Given the description of an element on the screen output the (x, y) to click on. 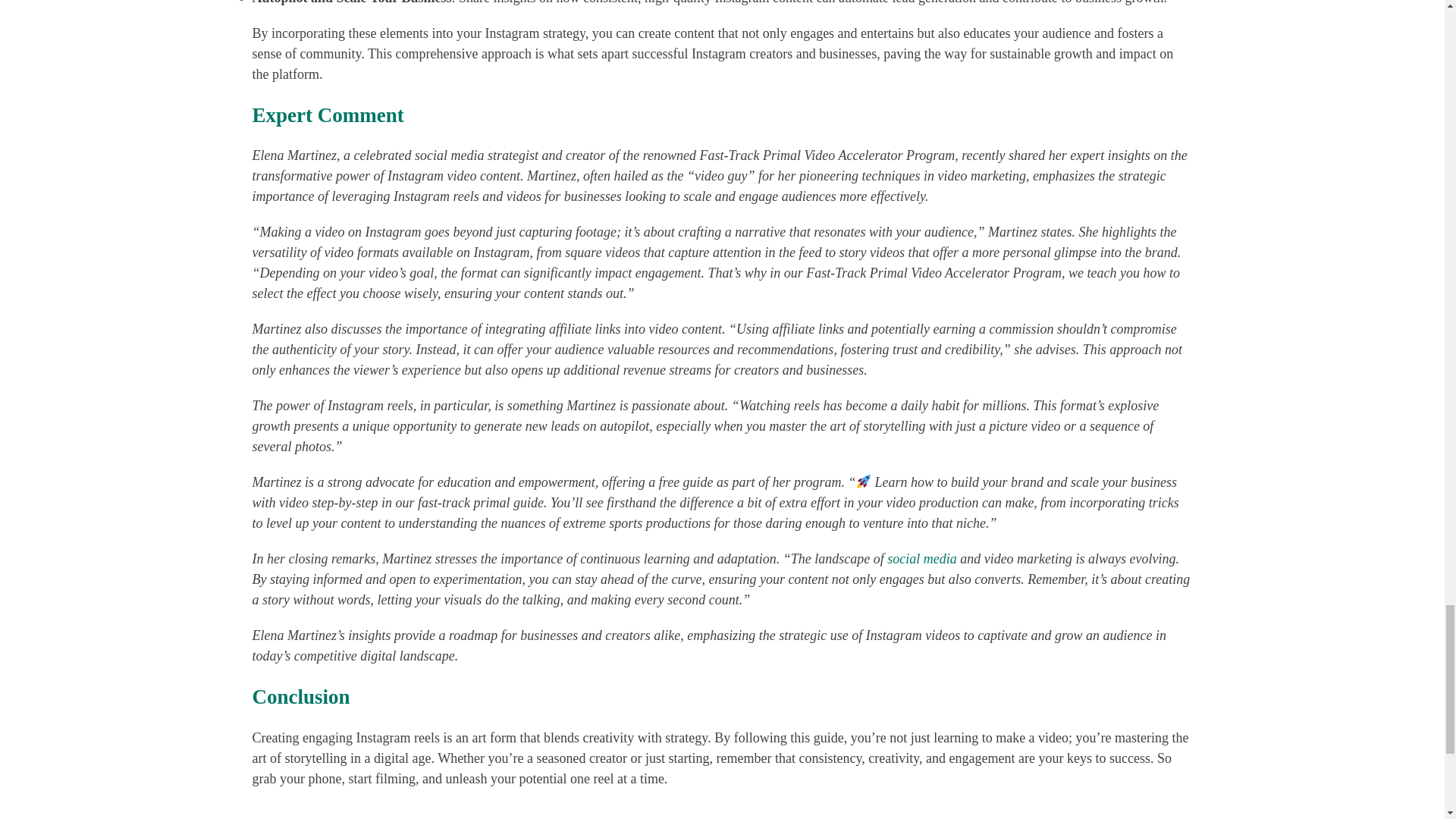
social media (921, 558)
